Given the description of an element on the screen output the (x, y) to click on. 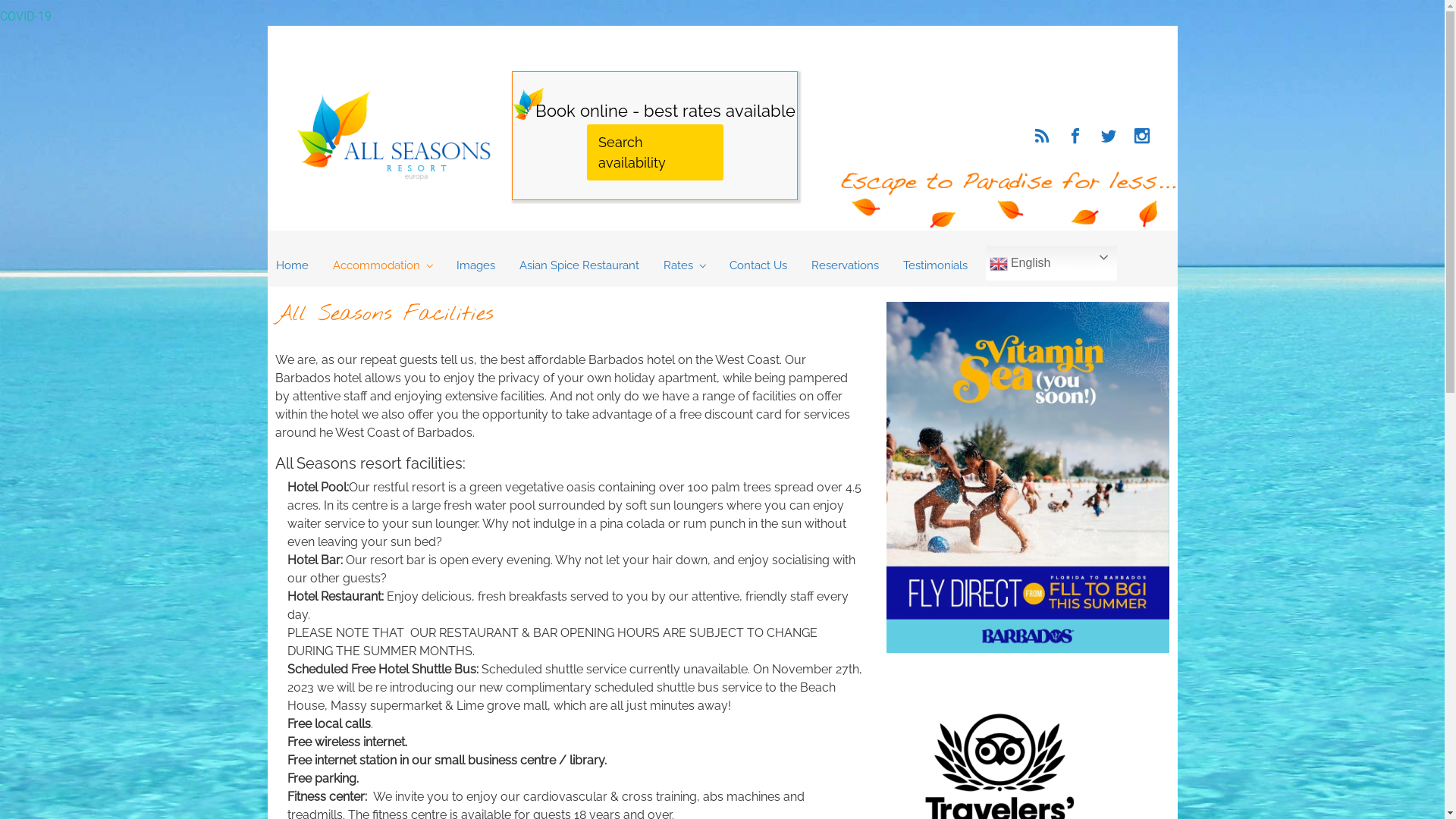
Testimonials Element type: text (934, 265)
Rates Element type: text (683, 265)
Asian Spice Restaurant Element type: text (578, 265)
Contact Us Element type: text (758, 265)
COVID-19 Element type: text (25, 16)
Airfare is on Us!! Element type: hover (1027, 476)
English Element type: text (1050, 262)
Home Element type: text (291, 265)
Reservations Element type: text (844, 265)
Accommodation Element type: text (381, 265)
Images Element type: text (475, 265)
Search availability Element type: text (654, 152)
